Given the description of an element on the screen output the (x, y) to click on. 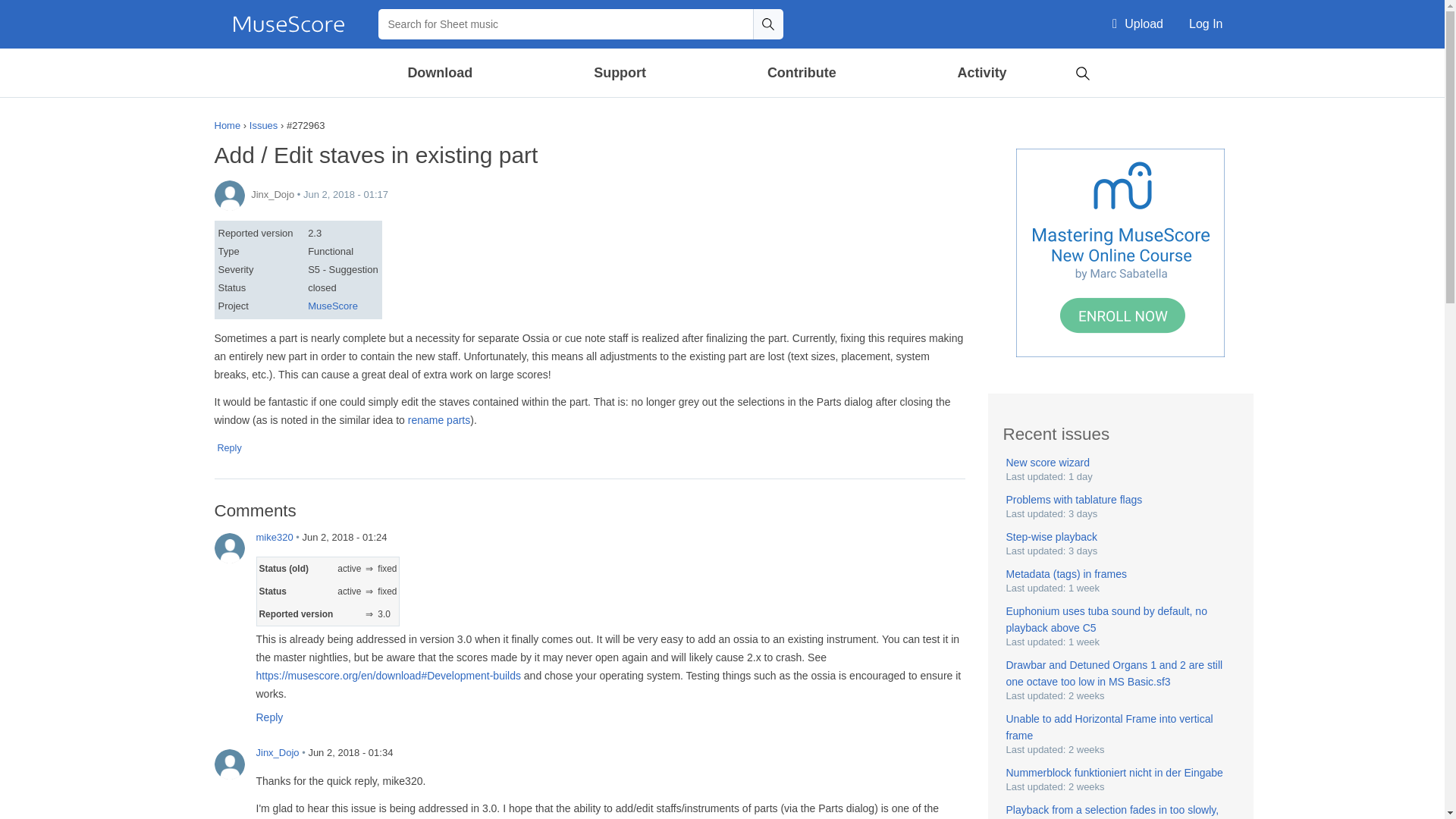
Home (287, 23)
MuseScore (287, 23)
Search (767, 24)
Search (1082, 71)
Upload (1137, 24)
mike320 (229, 548)
Download (440, 72)
Search (767, 24)
Log In (1205, 24)
